Given the description of an element on the screen output the (x, y) to click on. 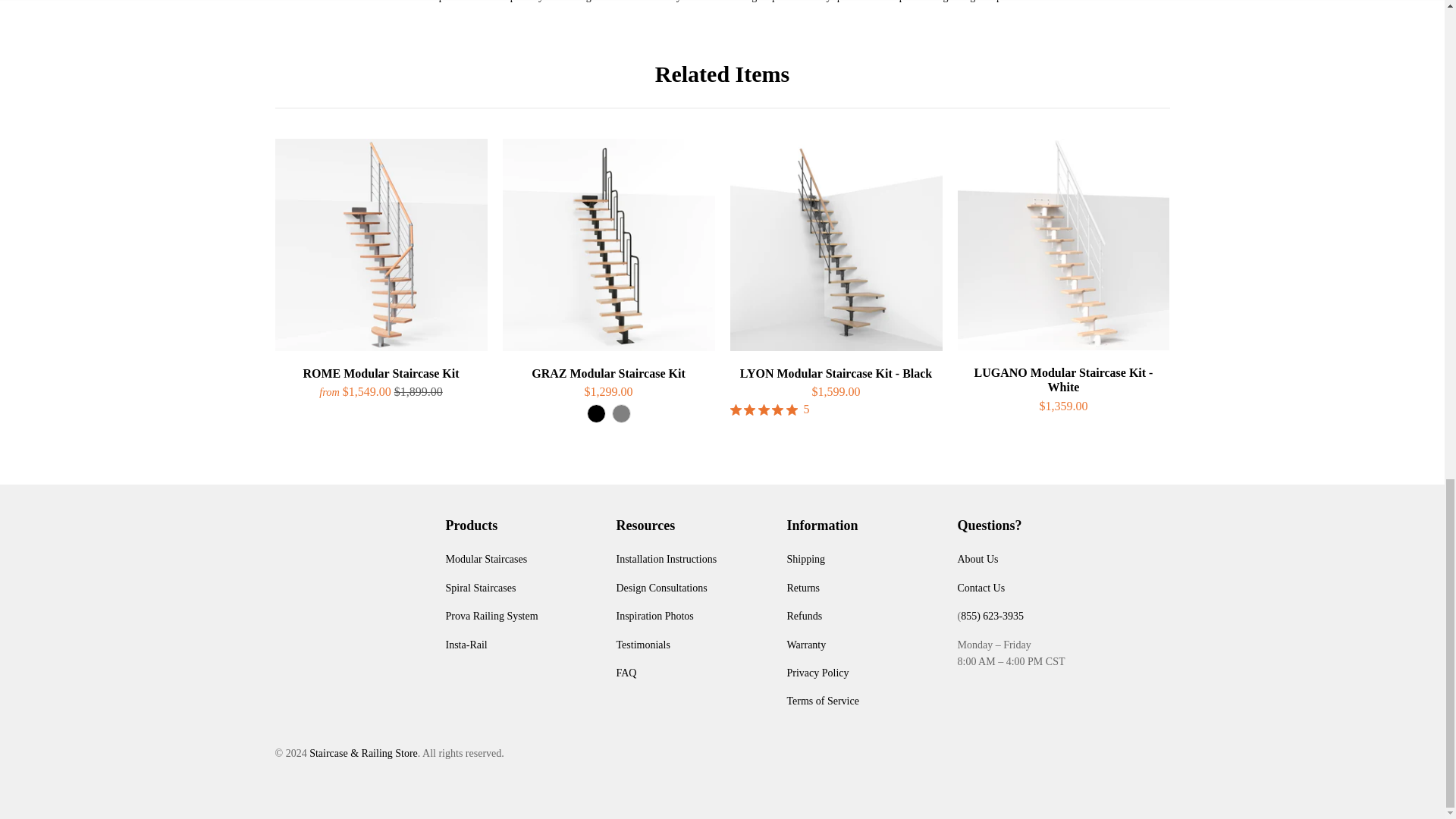
Call Staircase and Railing Store (991, 615)
Contact Us (980, 587)
About Us (976, 559)
5 (772, 409)
